Given the description of an element on the screen output the (x, y) to click on. 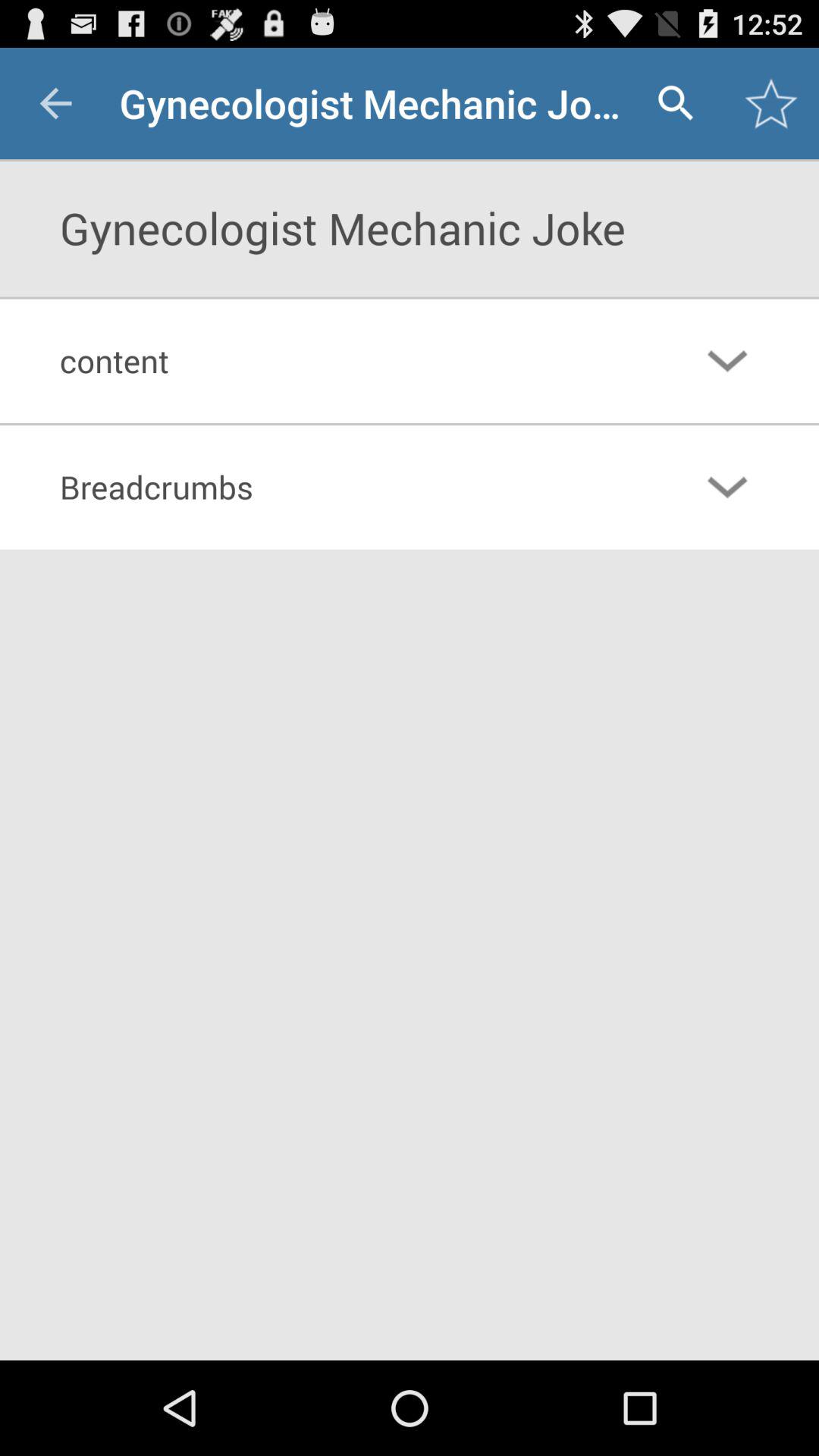
flip until breadcrumbs (347, 486)
